Given the description of an element on the screen output the (x, y) to click on. 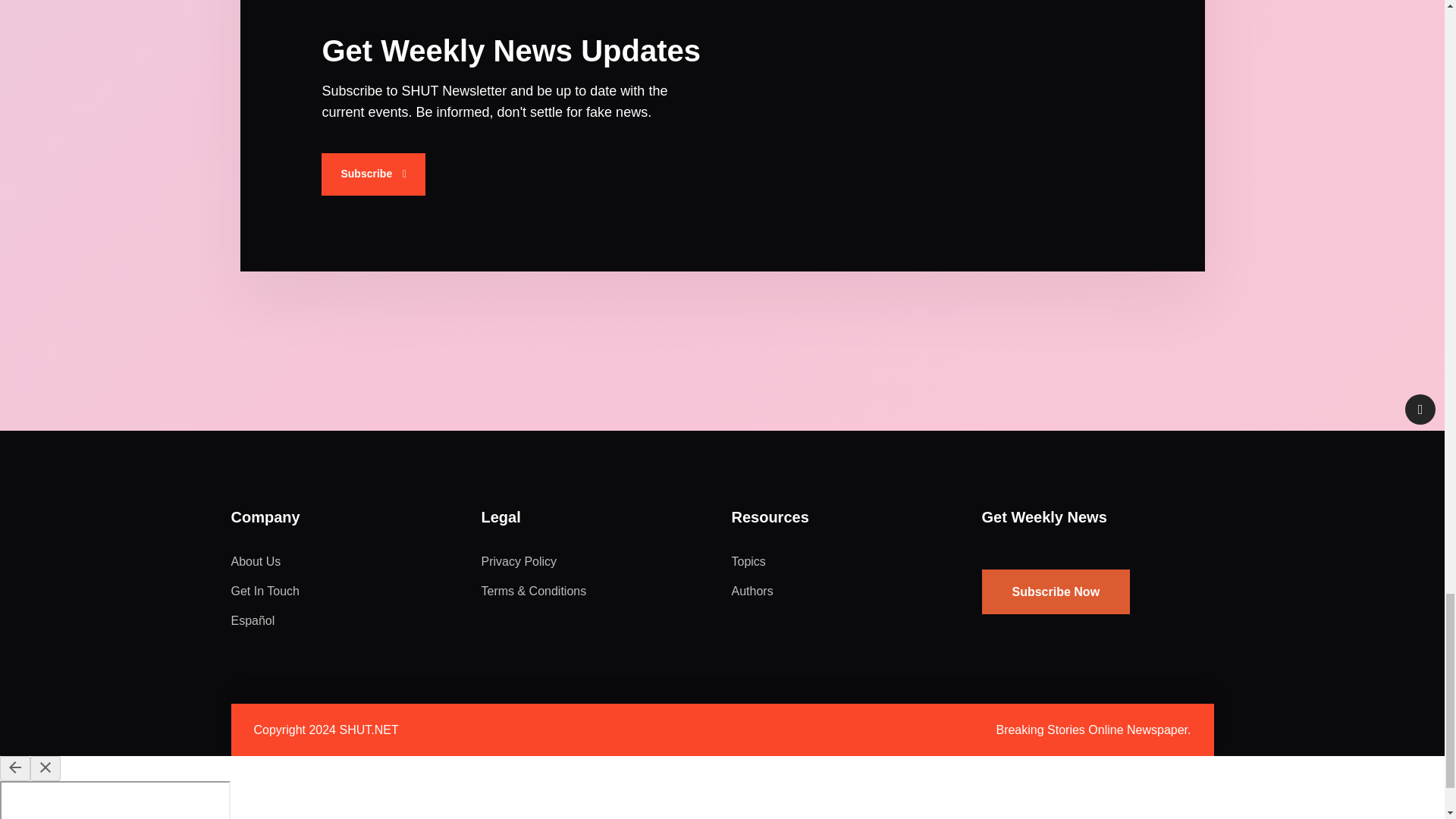
About Us (255, 561)
Privacy Policy (518, 561)
Get In Touch (264, 590)
Subscribe (373, 174)
